Given the description of an element on the screen output the (x, y) to click on. 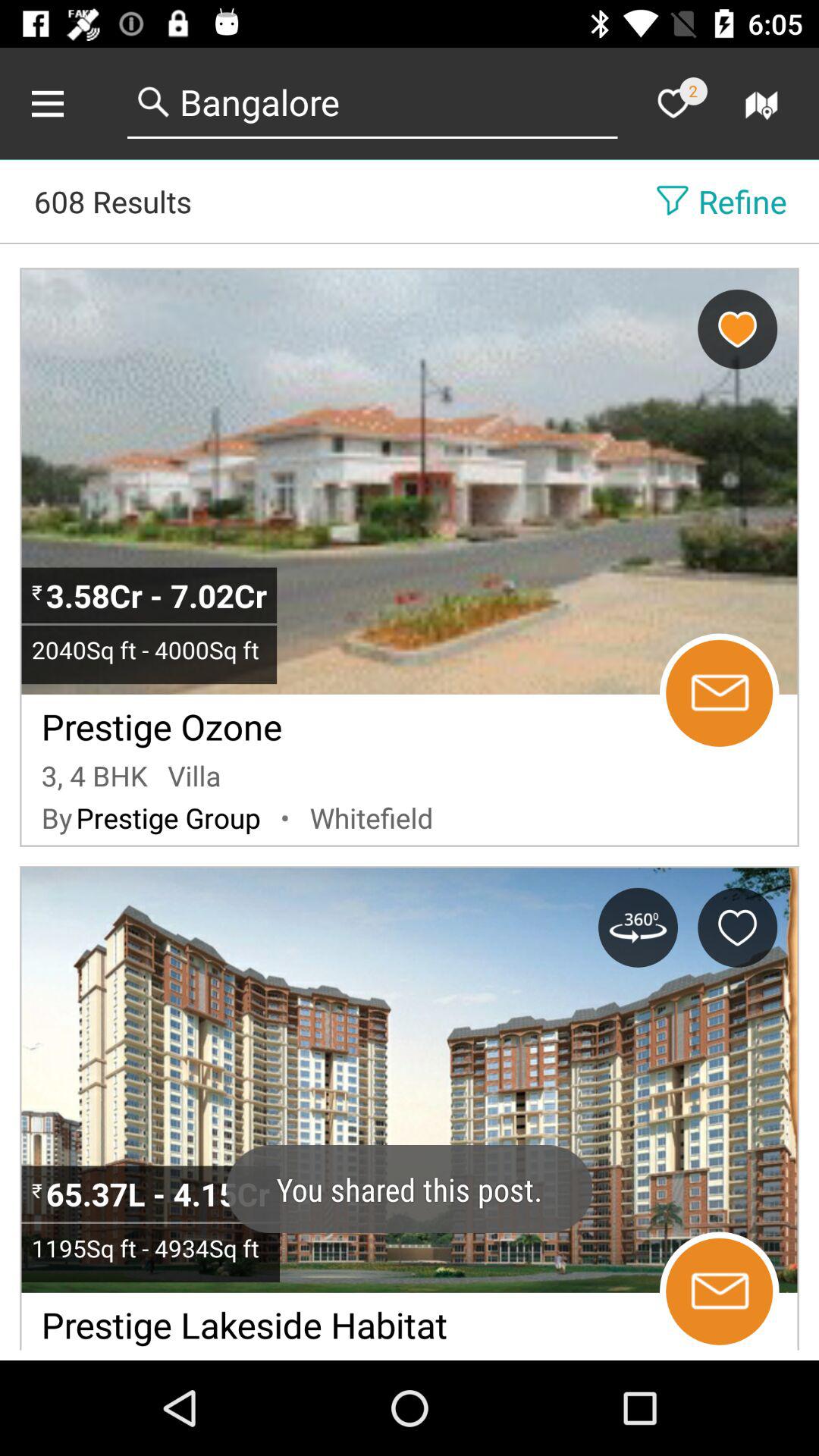
bookmark location (737, 329)
